Given the description of an element on the screen output the (x, y) to click on. 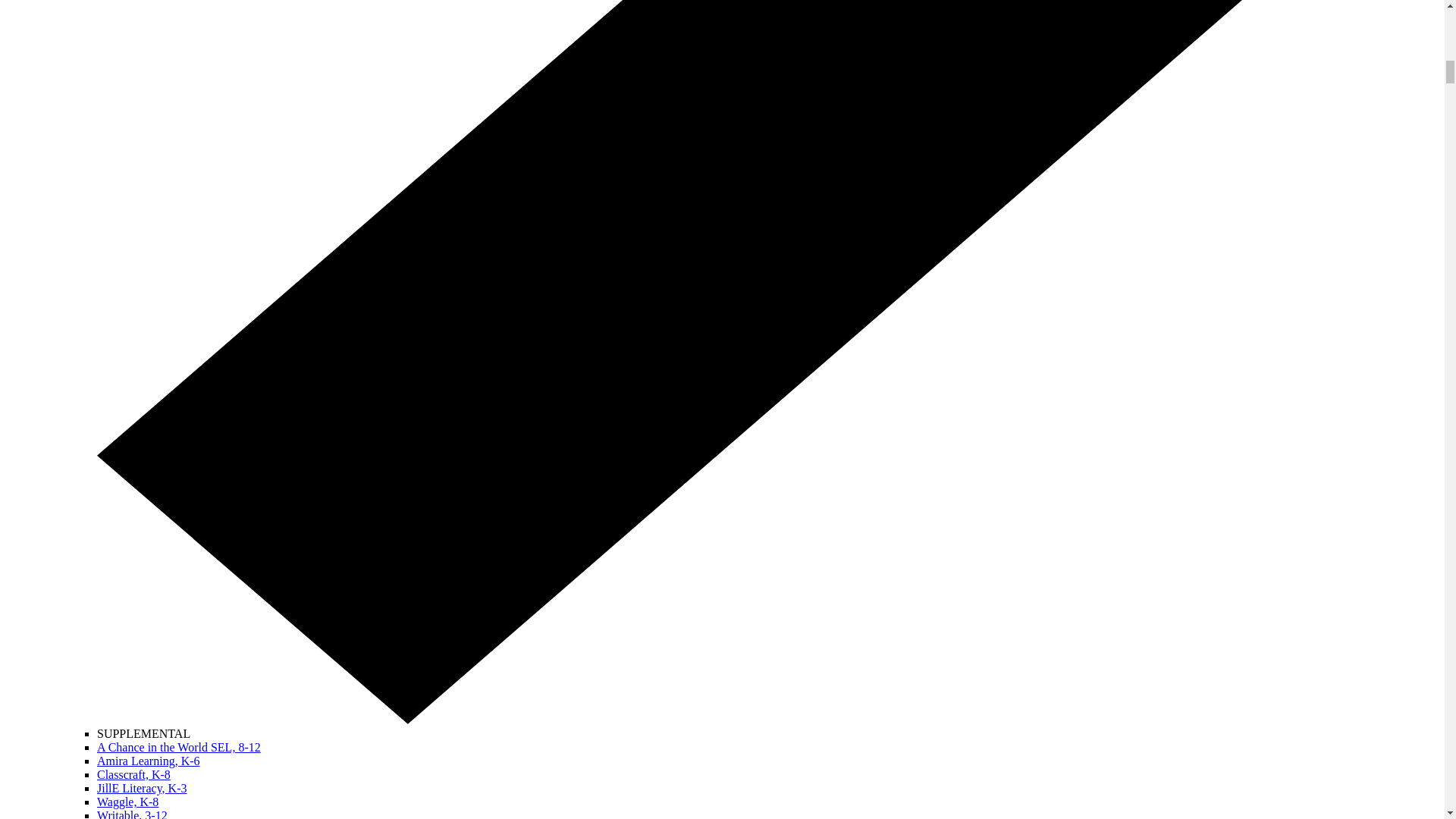
A Chance in the World SEL, 8-12 (178, 747)
A Chance in the World SEL, 8-12 (178, 747)
Classcraft, K-8 (133, 774)
Waggle, K-8 (127, 801)
JillE Literacy, K-3 (141, 788)
Classcraft, K-8 (133, 774)
Amira Learning, K-6 (148, 760)
Writable, 3-12 (132, 814)
Amira Learning, K-6 (148, 760)
Writable, 3-12 (132, 814)
JillE Literacy, K-3 (141, 788)
Waggle, K-8 (127, 801)
